Given the description of an element on the screen output the (x, y) to click on. 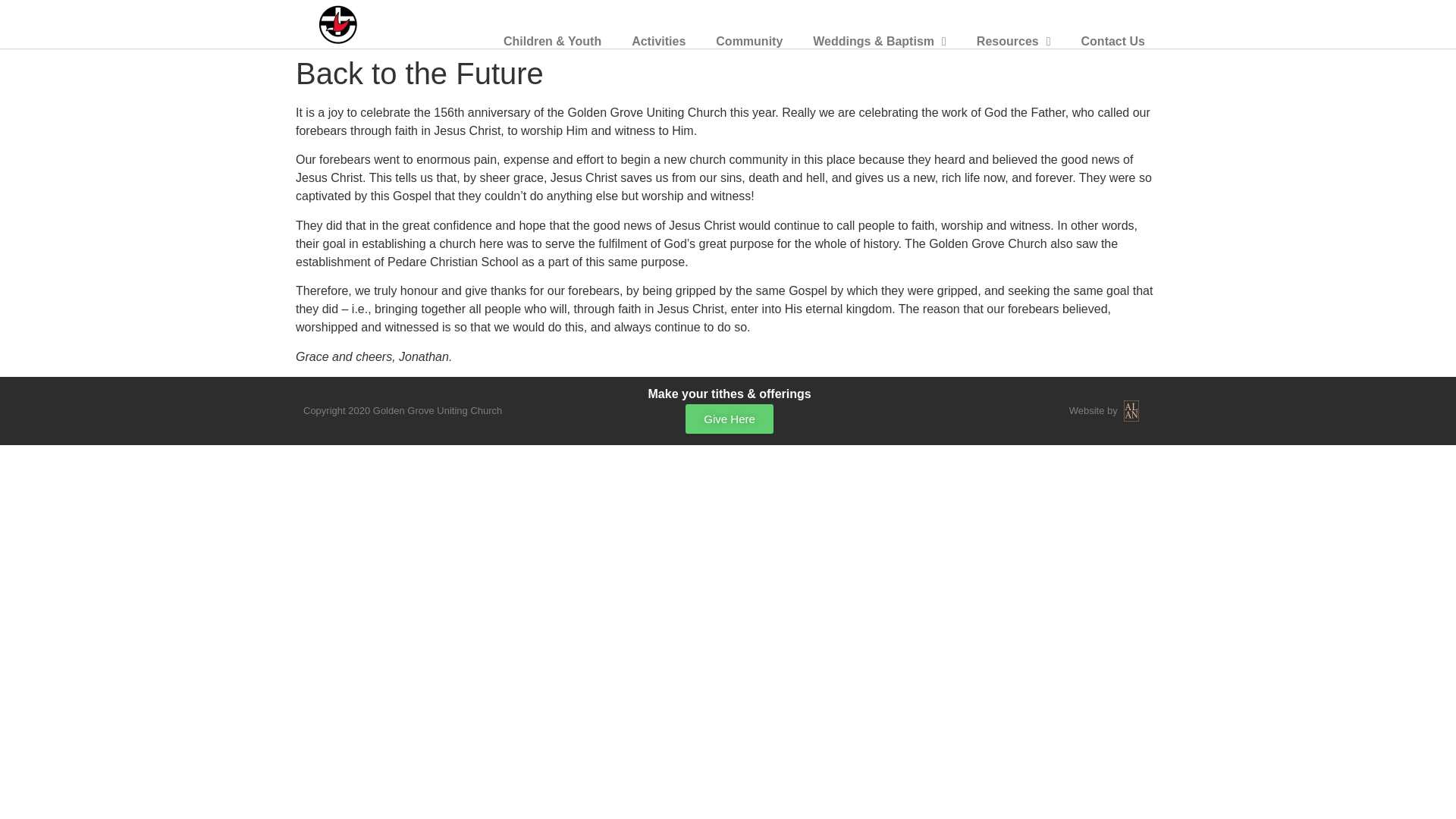
Website by (1093, 410)
Community (748, 41)
Activities (657, 41)
Resources (1012, 41)
Give Here (729, 419)
Contact Us (1112, 41)
